Given the description of an element on the screen output the (x, y) to click on. 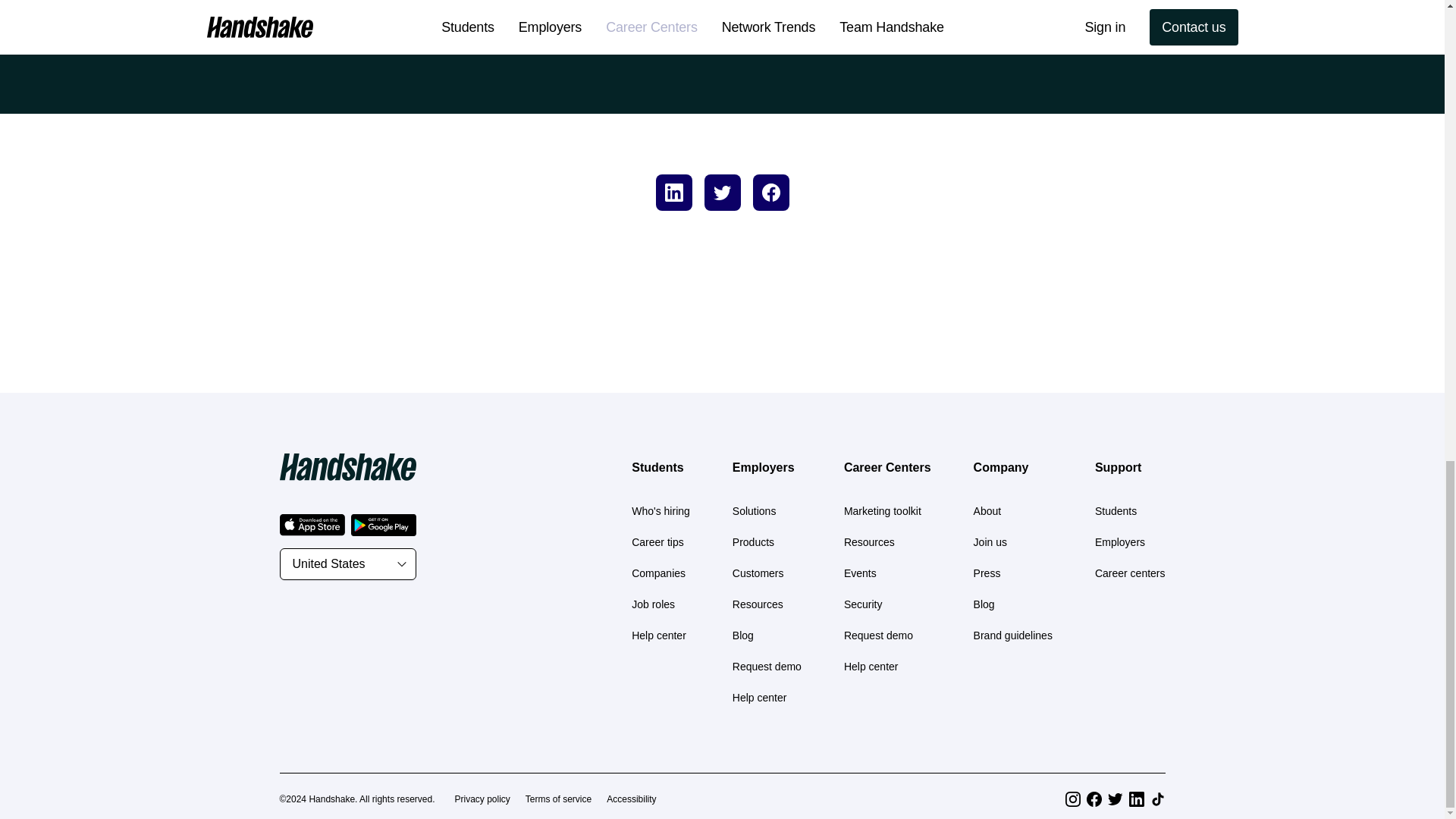
Facebook (1093, 798)
Handshake (346, 466)
LinkedIn (1135, 798)
Customers (758, 573)
Help center (658, 635)
Download Android app (382, 525)
United States (346, 563)
Career tips (656, 541)
Companies (658, 573)
Products (753, 541)
Twitter (1114, 798)
Solutions (754, 510)
Who's hiring (660, 510)
Employers (763, 467)
TikTok (1157, 798)
